Given the description of an element on the screen output the (x, y) to click on. 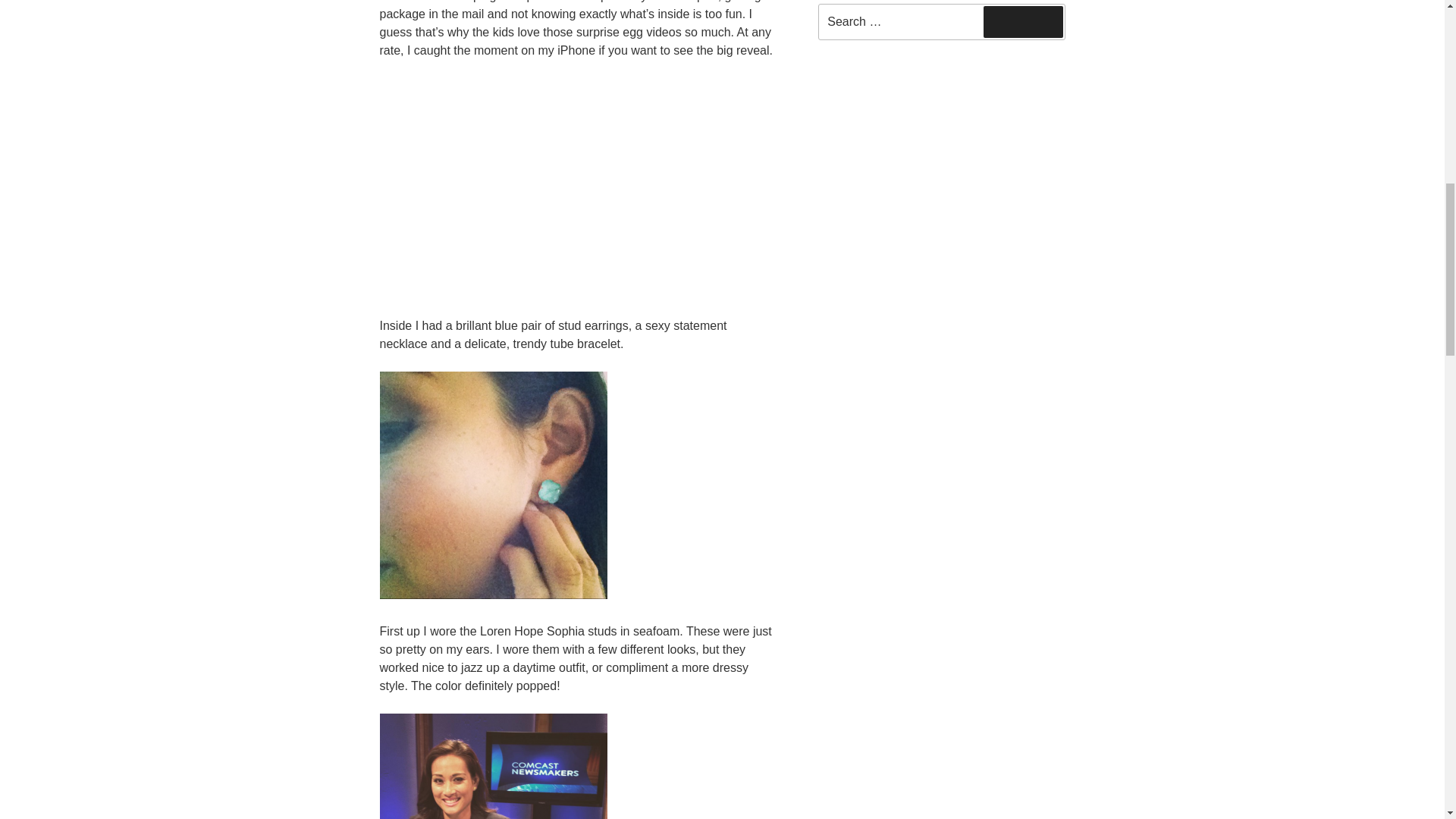
Search (1023, 21)
